Given the description of an element on the screen output the (x, y) to click on. 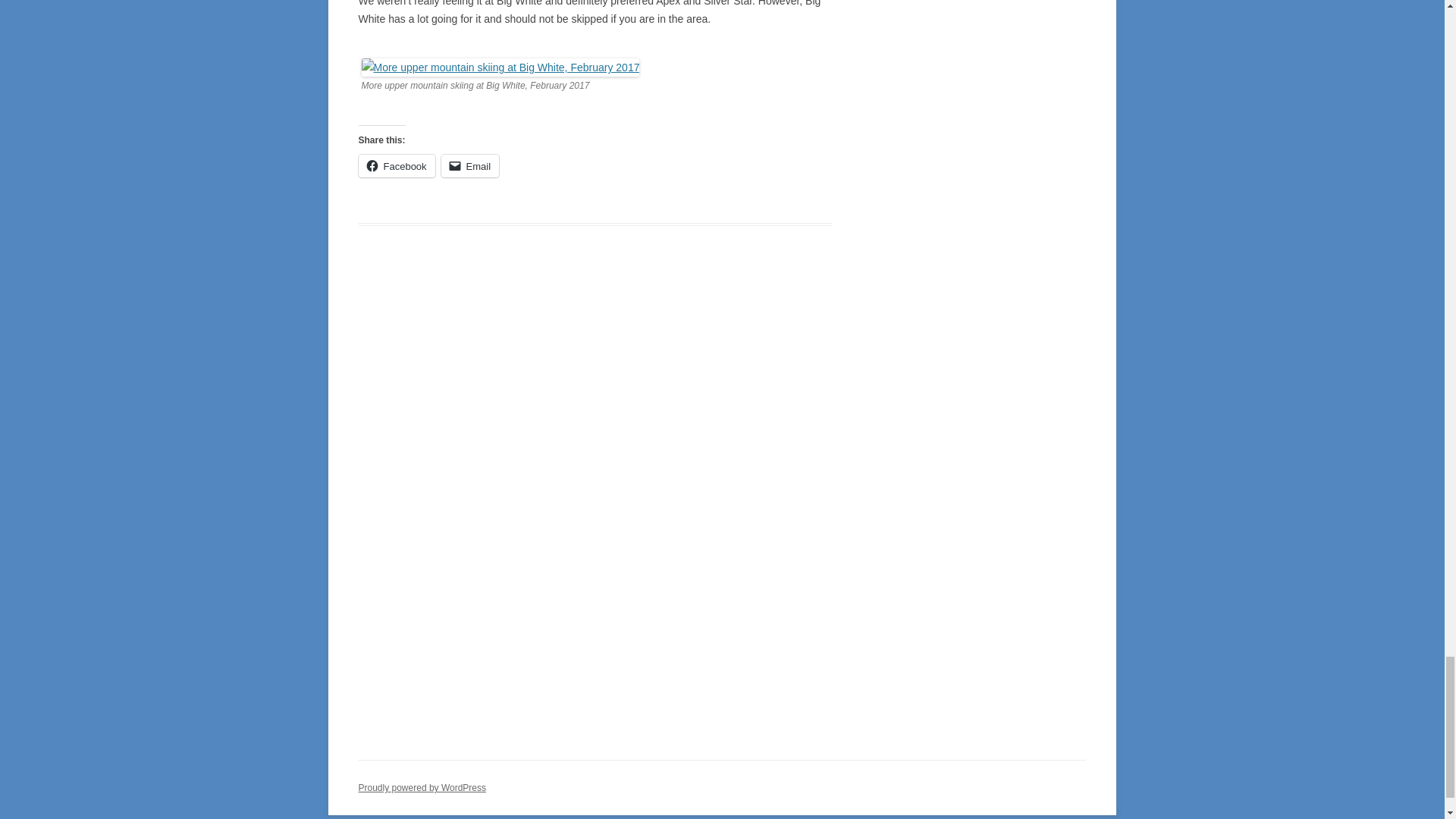
Click to email a link to a friend (470, 165)
Semantic Personal Publishing Platform (422, 787)
Click to share on Facebook (395, 165)
